Given the description of an element on the screen output the (x, y) to click on. 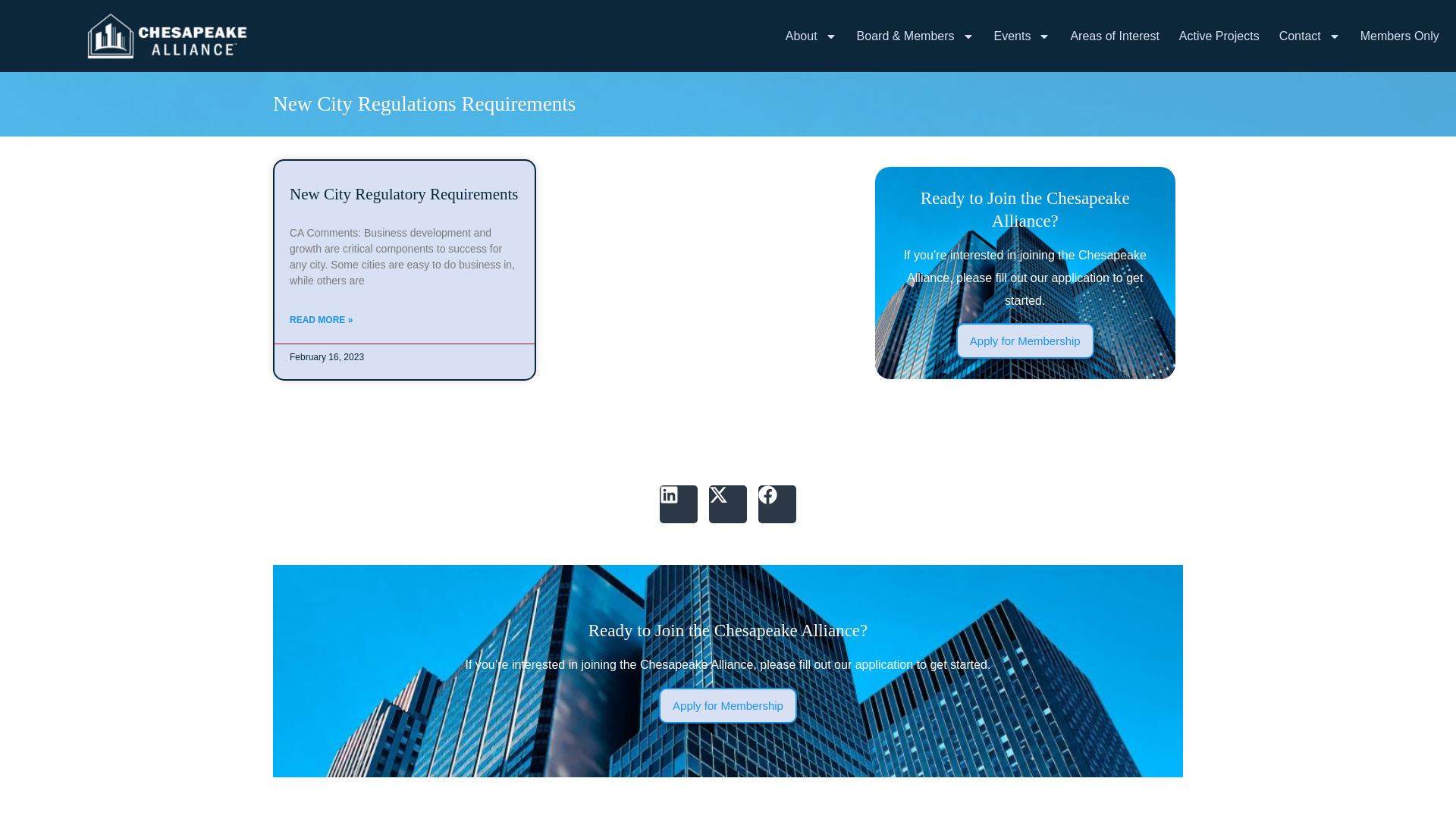
Contact (1309, 35)
X-twitter (727, 504)
New City Regulatory Requirements (403, 194)
Active Projects (1219, 35)
Members Only (1399, 35)
About (811, 35)
Events (1021, 35)
Linkedin (678, 504)
Areas of Interest (1113, 35)
Apply for Membership (1025, 340)
